Given the description of an element on the screen output the (x, y) to click on. 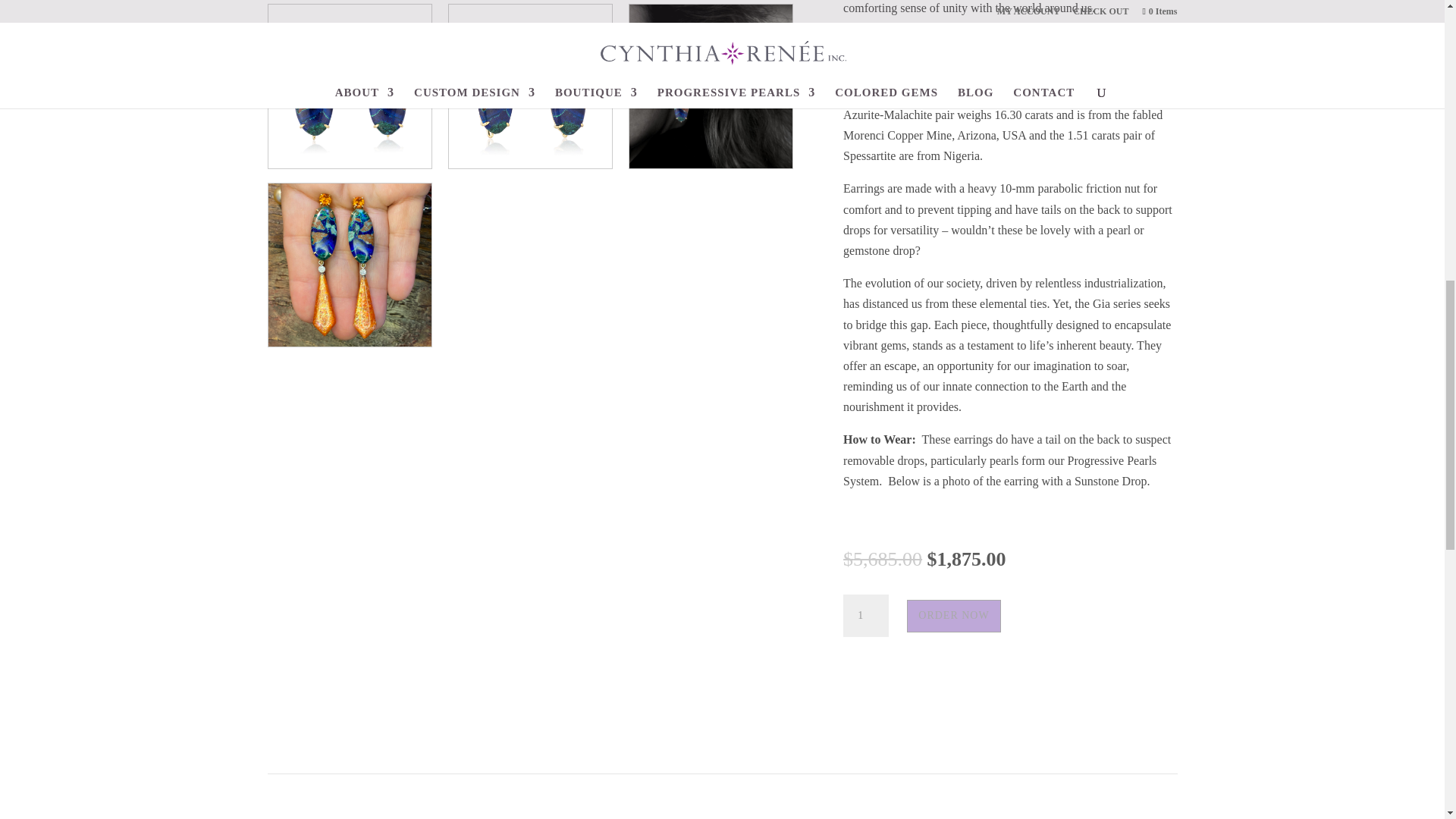
GiaMalaEar (710, 86)
1 (865, 615)
